Given the description of an element on the screen output the (x, y) to click on. 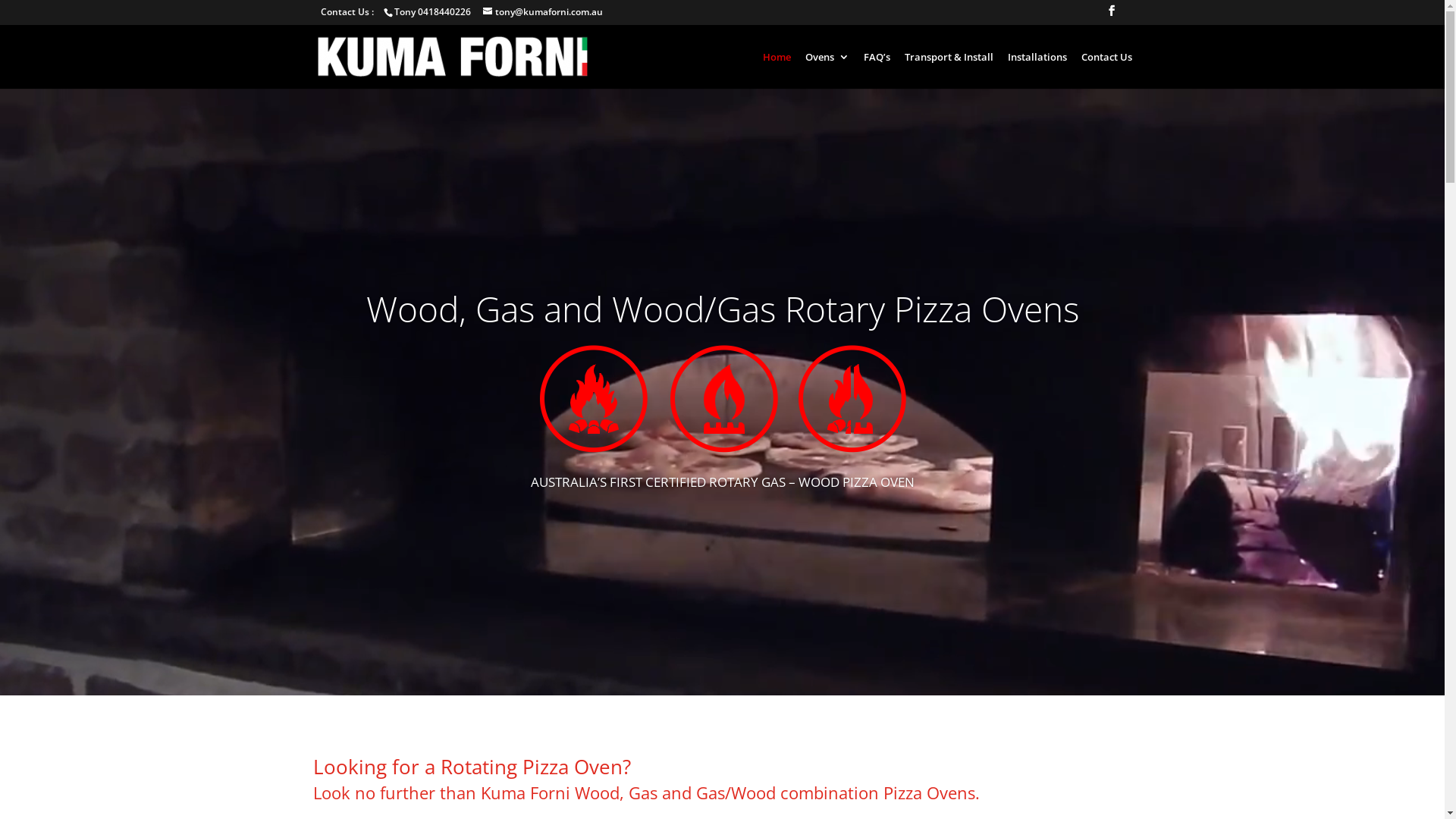
Contact Us Element type: text (1106, 69)
Installations Element type: text (1036, 69)
tony@kumaforni.com.au Element type: text (542, 11)
Transport & Install Element type: text (947, 69)
Ovens Element type: text (827, 69)
Home Element type: text (776, 69)
Tony 0418440226 Element type: text (433, 11)
